Given the description of an element on the screen output the (x, y) to click on. 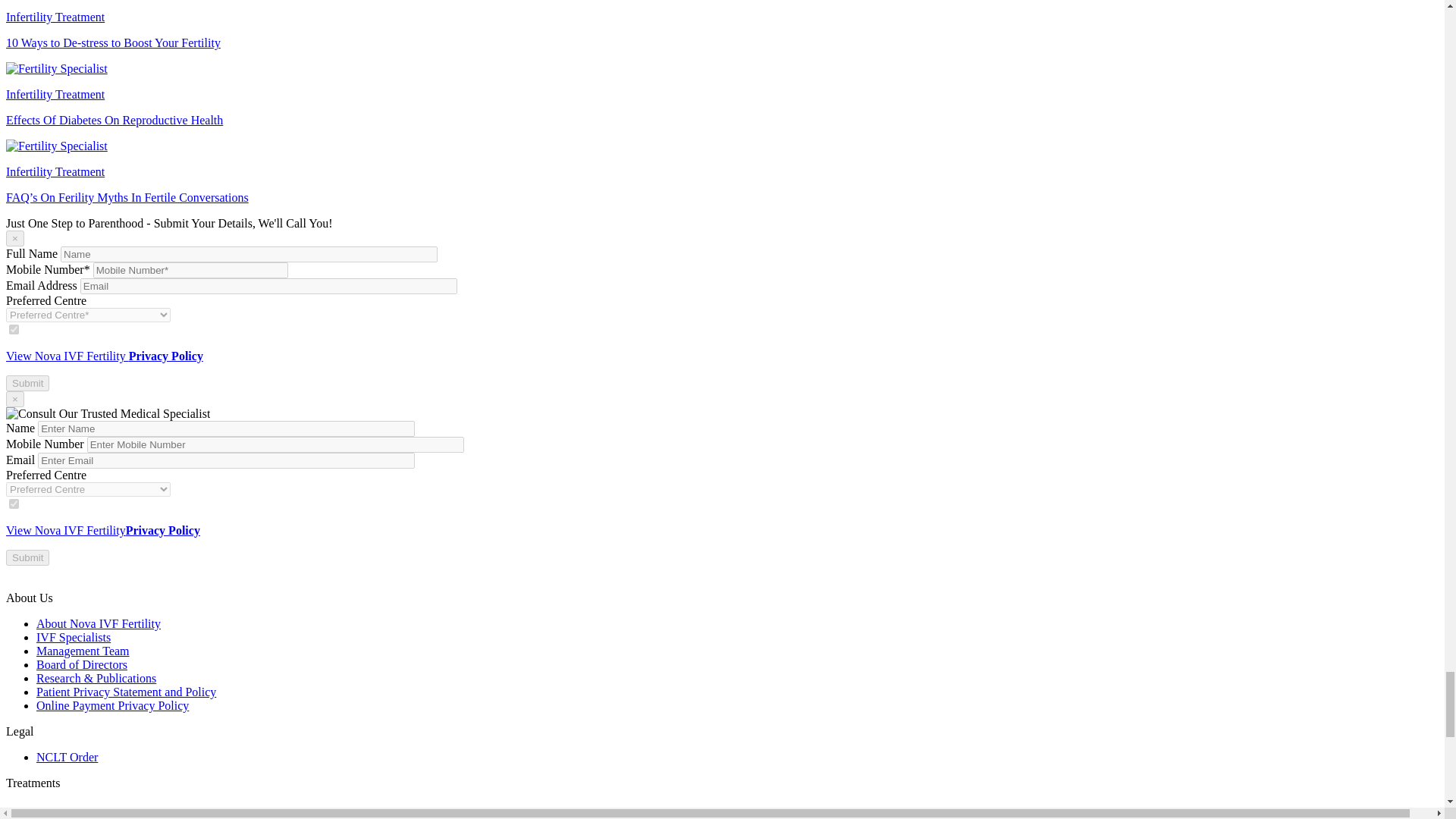
1 (13, 503)
1 (13, 329)
